Given the description of an element on the screen output the (x, y) to click on. 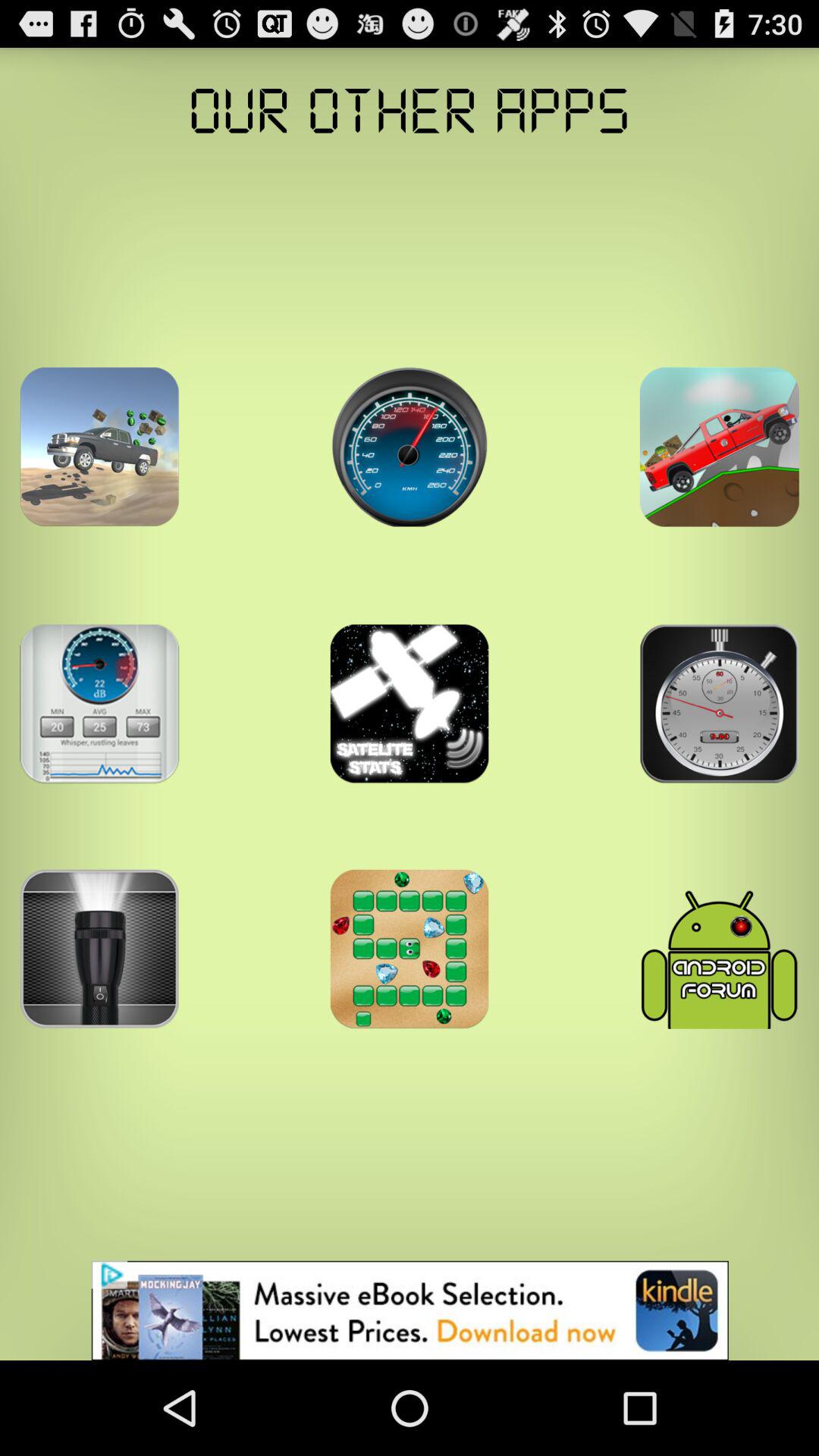
open android forum app (719, 948)
